Given the description of an element on the screen output the (x, y) to click on. 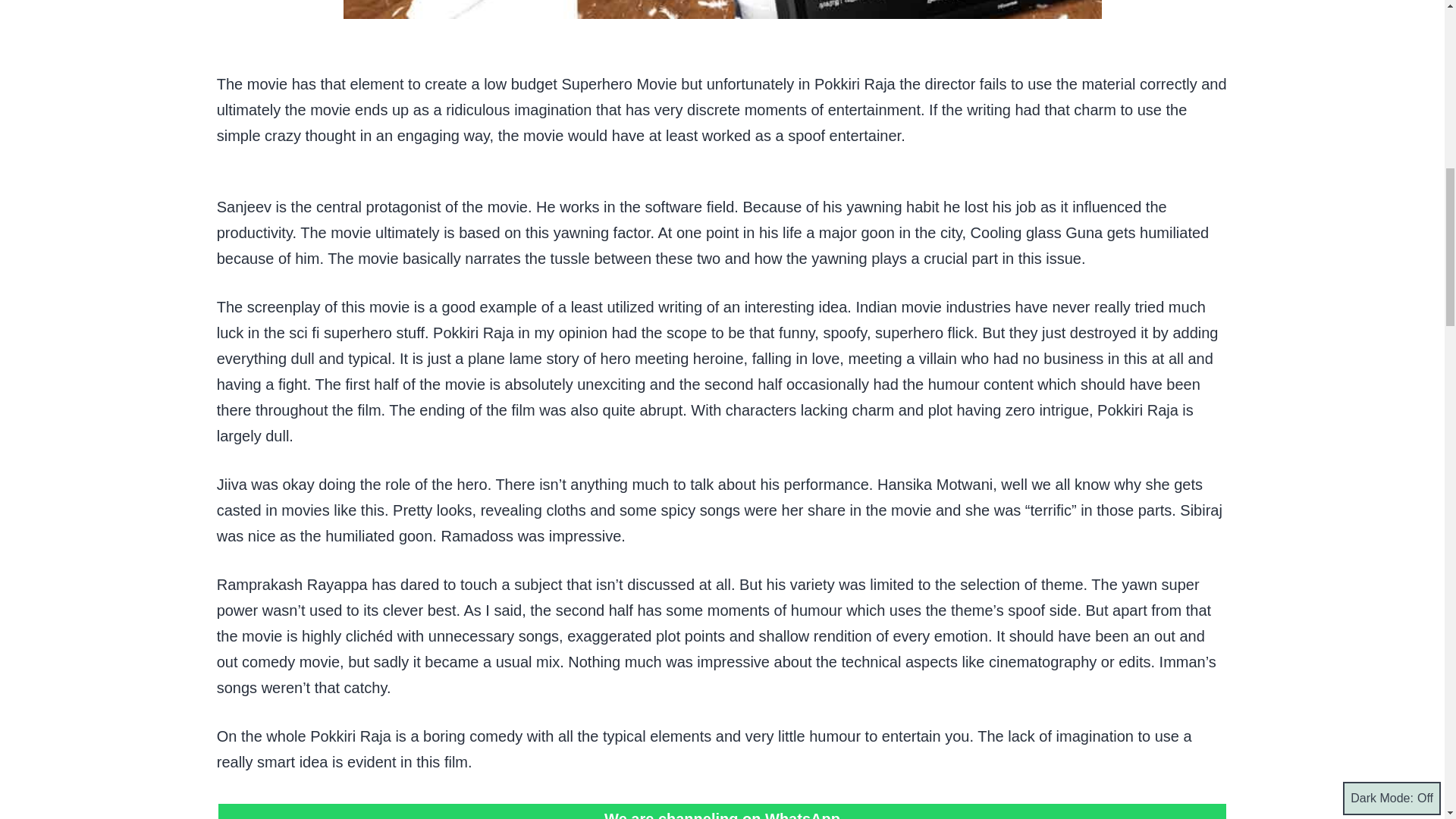
We are channeling on WhatsApp (722, 814)
